Given the description of an element on the screen output the (x, y) to click on. 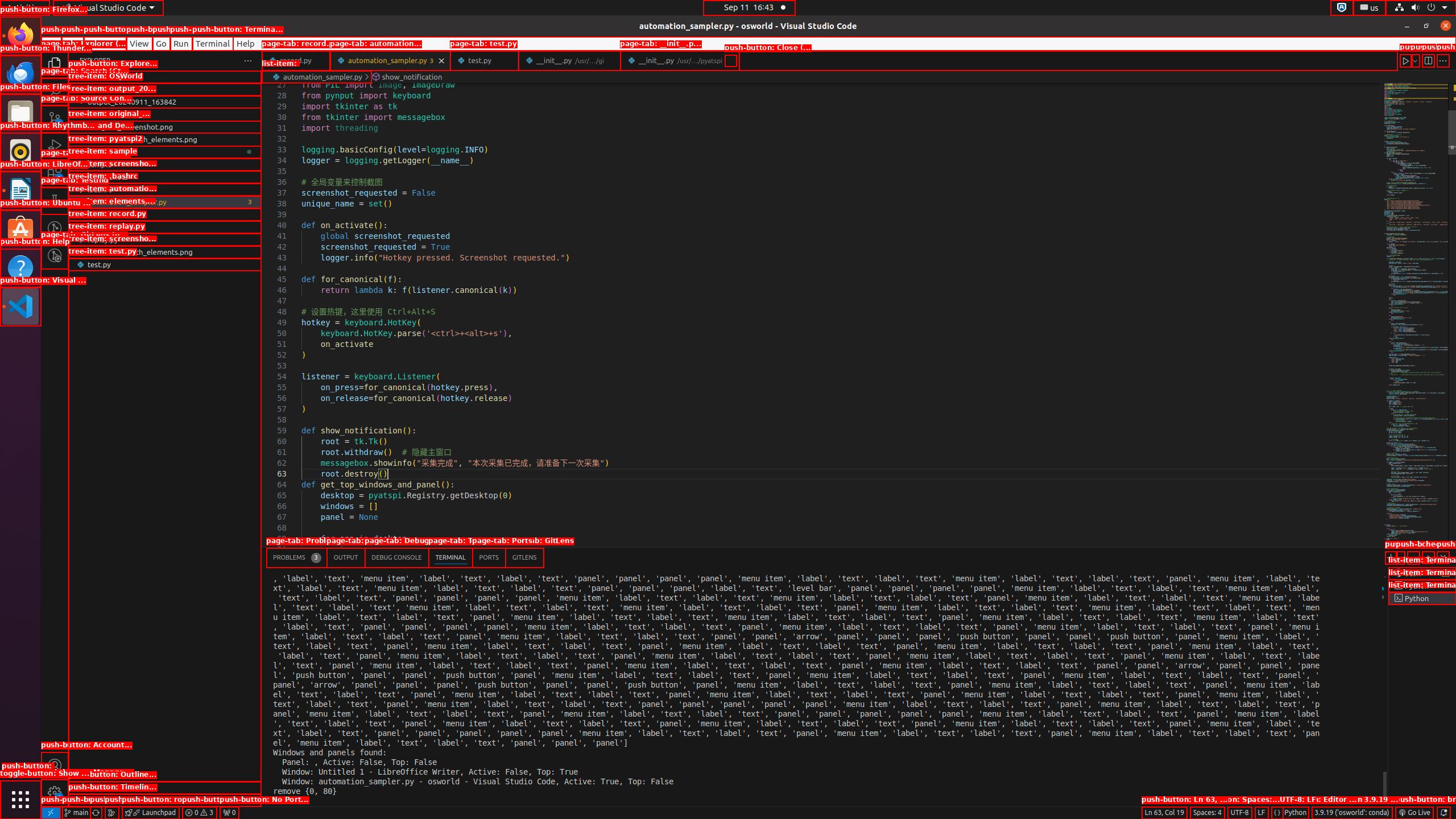
Run Python File Element type: push-button (1405, 60)
remote Element type: push-button (50, 812)
Testing Element type: page-tab (54, 200)
Show the GitLens Commit Graph Element type: push-button (111, 812)
Manage - New Code update available. Element type: push-button (54, 792)
